Given the description of an element on the screen output the (x, y) to click on. 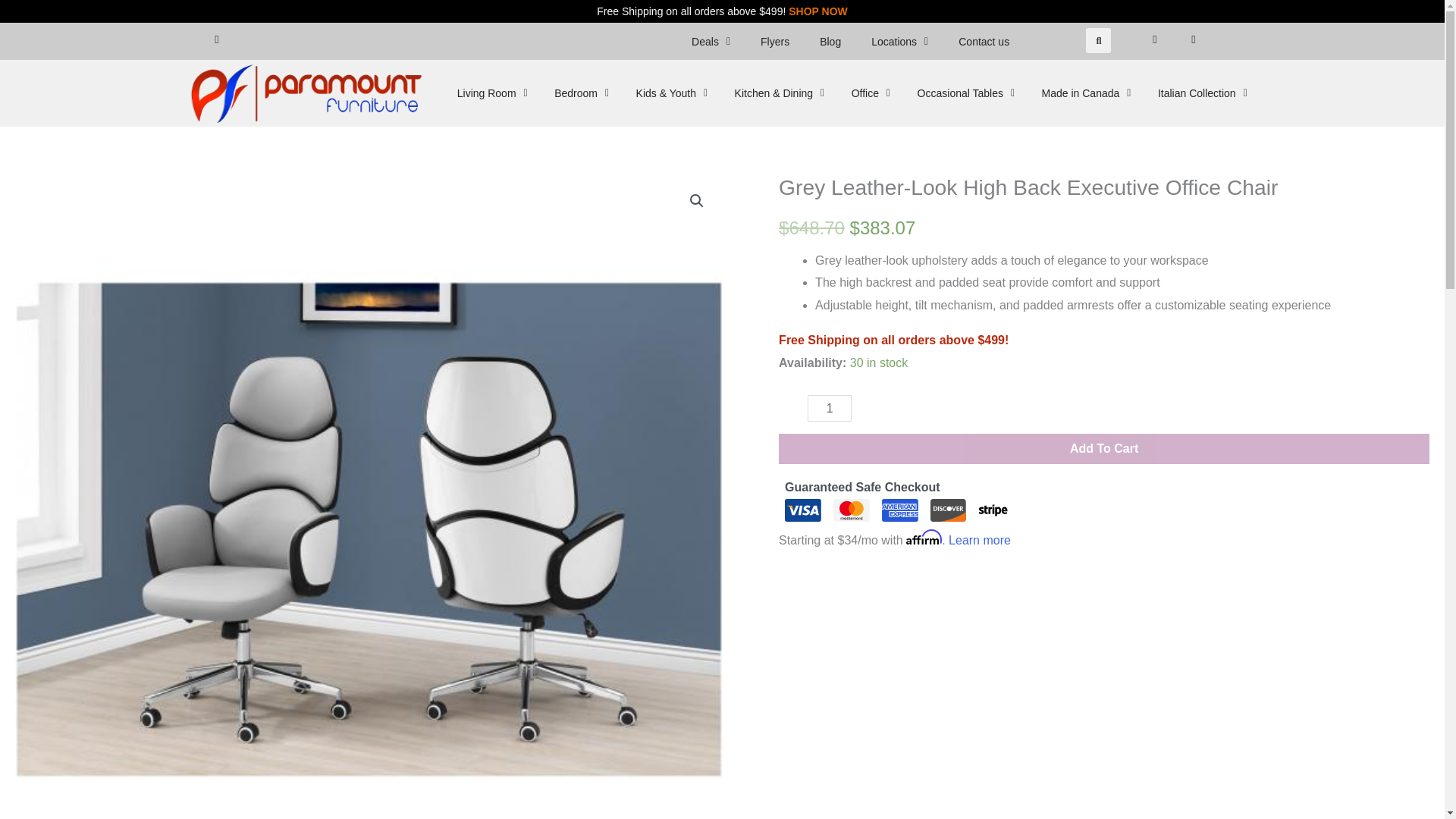
1 (829, 407)
Deals (711, 41)
Contact us (984, 41)
Flyers (775, 41)
Living Room (492, 93)
Bedroom (580, 93)
Locations (899, 41)
Blog (830, 41)
